Given the description of an element on the screen output the (x, y) to click on. 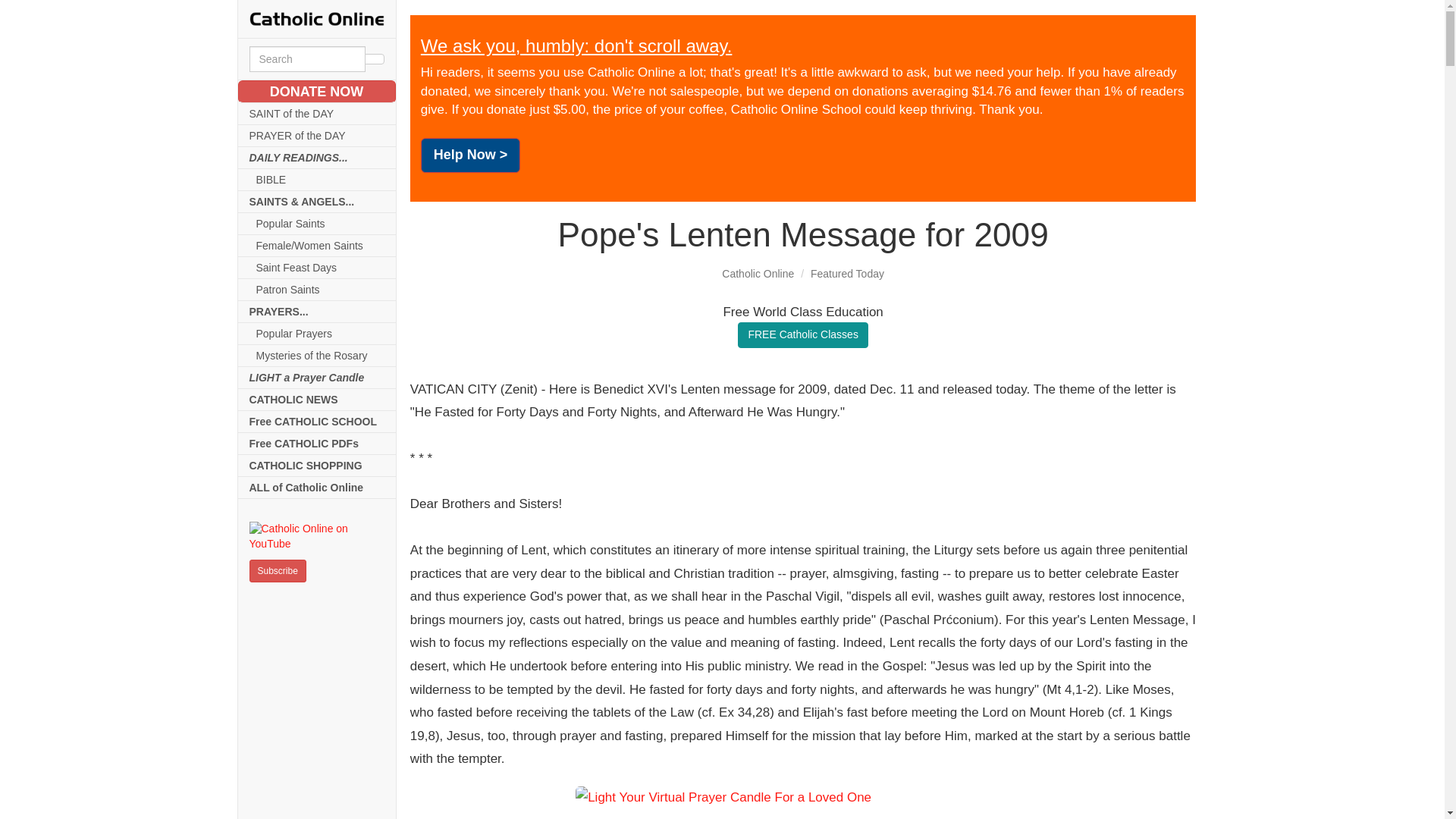
Catholic Online: World's Catholic Library (316, 18)
Catholic Online on YouTube (316, 536)
Free CATHOLIC PDFs (317, 444)
Subscribe to Catholic Online Newsletter (276, 570)
Light Your Virtual Prayer Candle For a Loved One (803, 802)
PRAYER of the DAY (317, 136)
SAINT of the DAY (317, 114)
CATHOLIC SHOPPING (317, 465)
We ask you, humbly: don't scroll away. (576, 46)
CATHOLIC NEWS (317, 400)
